Given the description of an element on the screen output the (x, y) to click on. 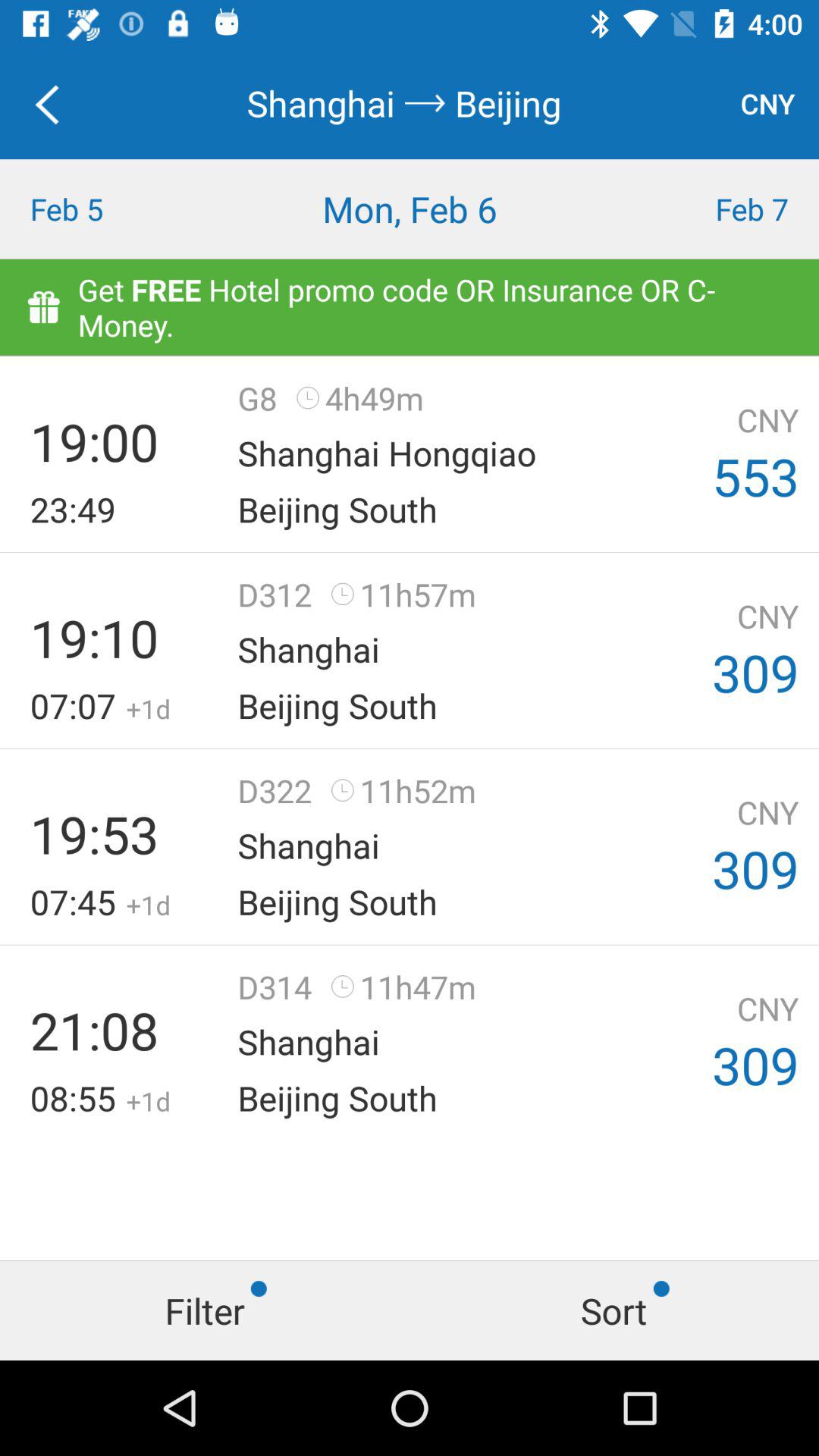
tap item next to the mon, feb 6 icon (716, 208)
